Given the description of an element on the screen output the (x, y) to click on. 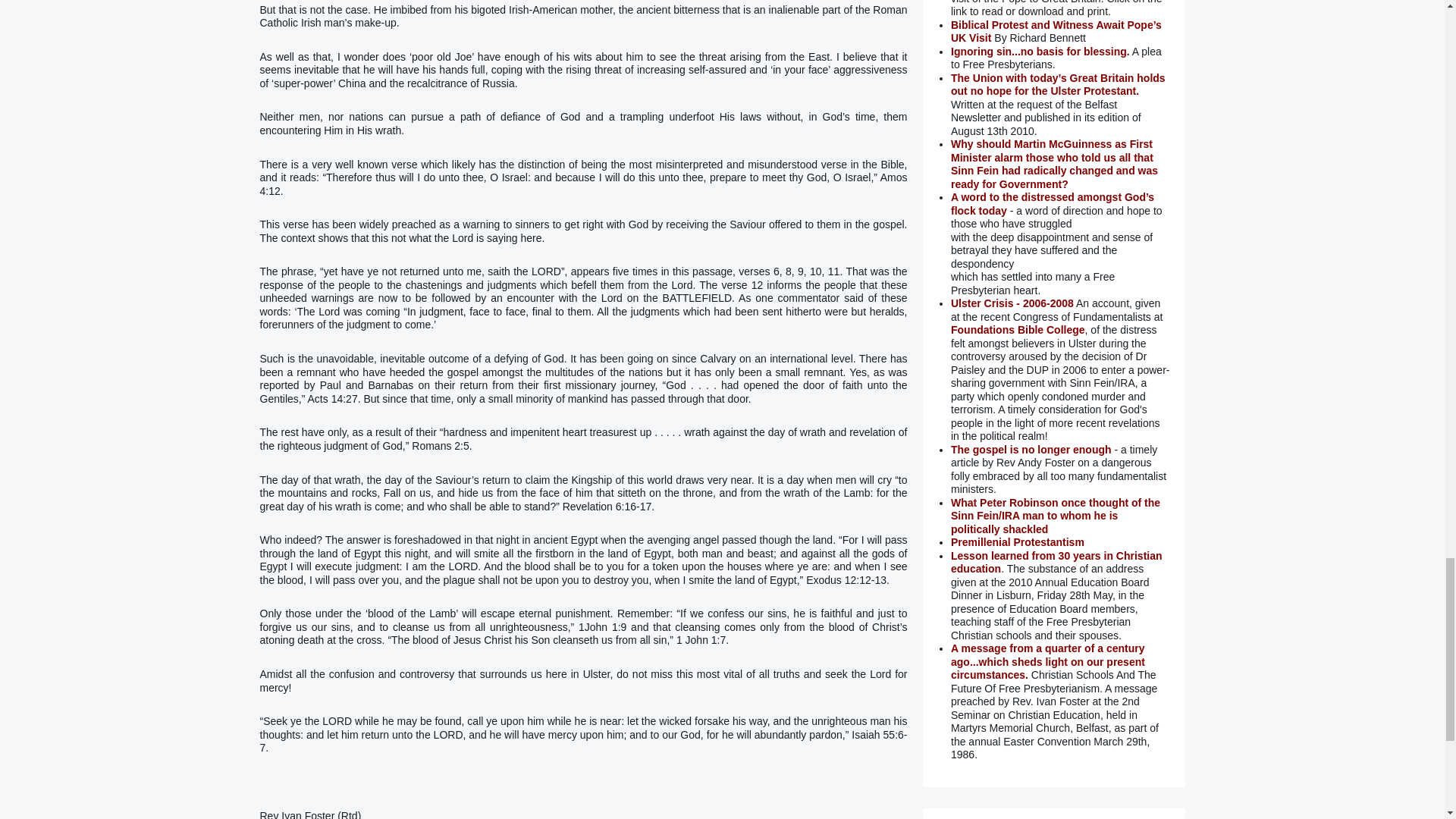
Ignoring sin...no basis for blessing. (1039, 51)
Premillenial Protestantism (1017, 541)
Foundations Bible College (1017, 329)
The gospel is no longer enough (1031, 449)
Ulster Crisis - 2006-2008 (1012, 303)
Lesson learned from 30 years in Christian education (1055, 562)
